Given the description of an element on the screen output the (x, y) to click on. 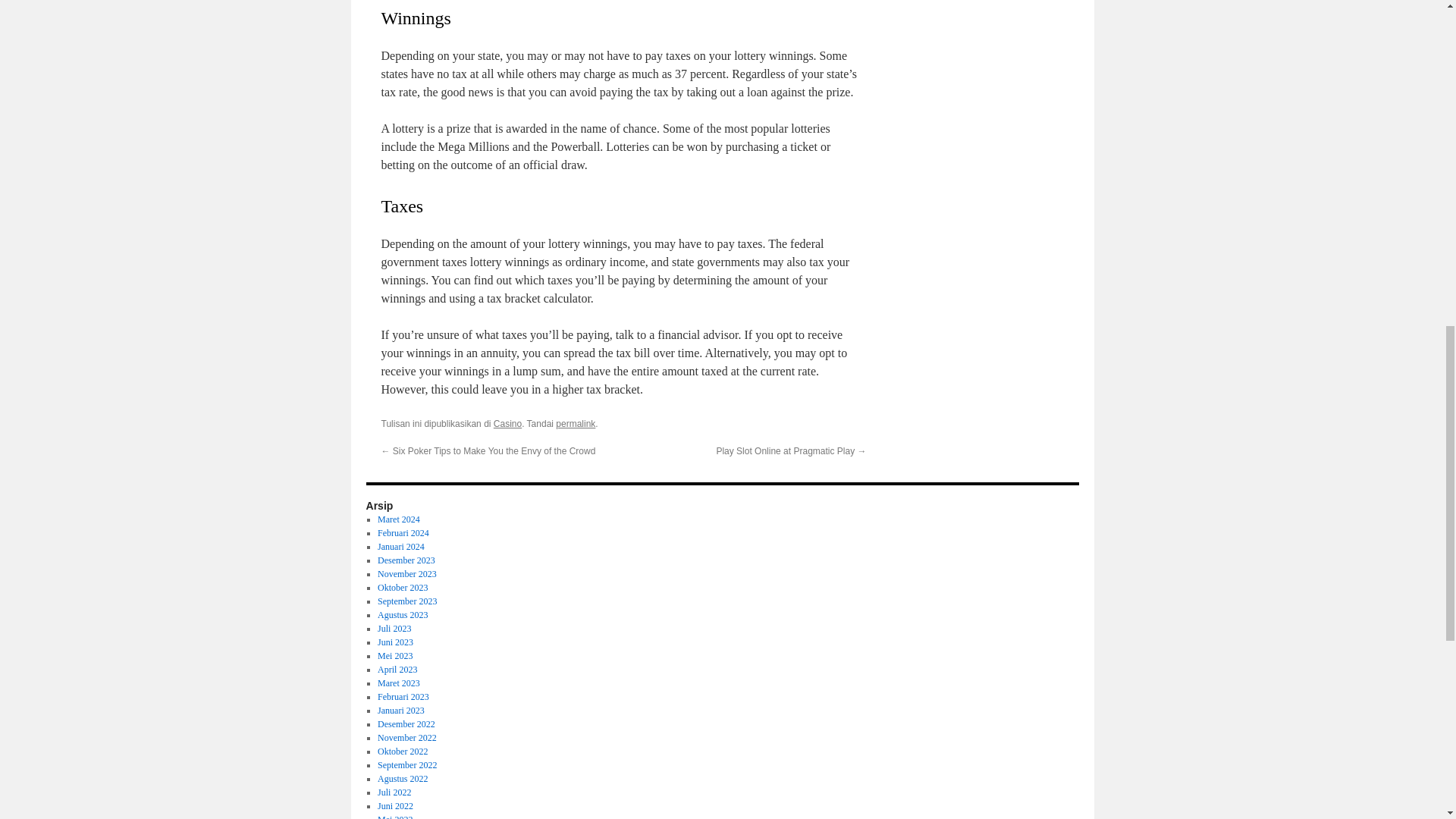
permalink (575, 423)
Februari 2023 (403, 696)
Maret 2023 (398, 683)
Mei 2023 (394, 655)
Casino (507, 423)
Februari 2024 (403, 532)
Juni 2023 (395, 642)
Maret 2024 (398, 519)
April 2023 (396, 669)
Januari 2023 (401, 710)
Desember 2022 (406, 724)
September 2023 (406, 601)
Januari 2024 (401, 546)
Agustus 2023 (402, 614)
